Given the description of an element on the screen output the (x, y) to click on. 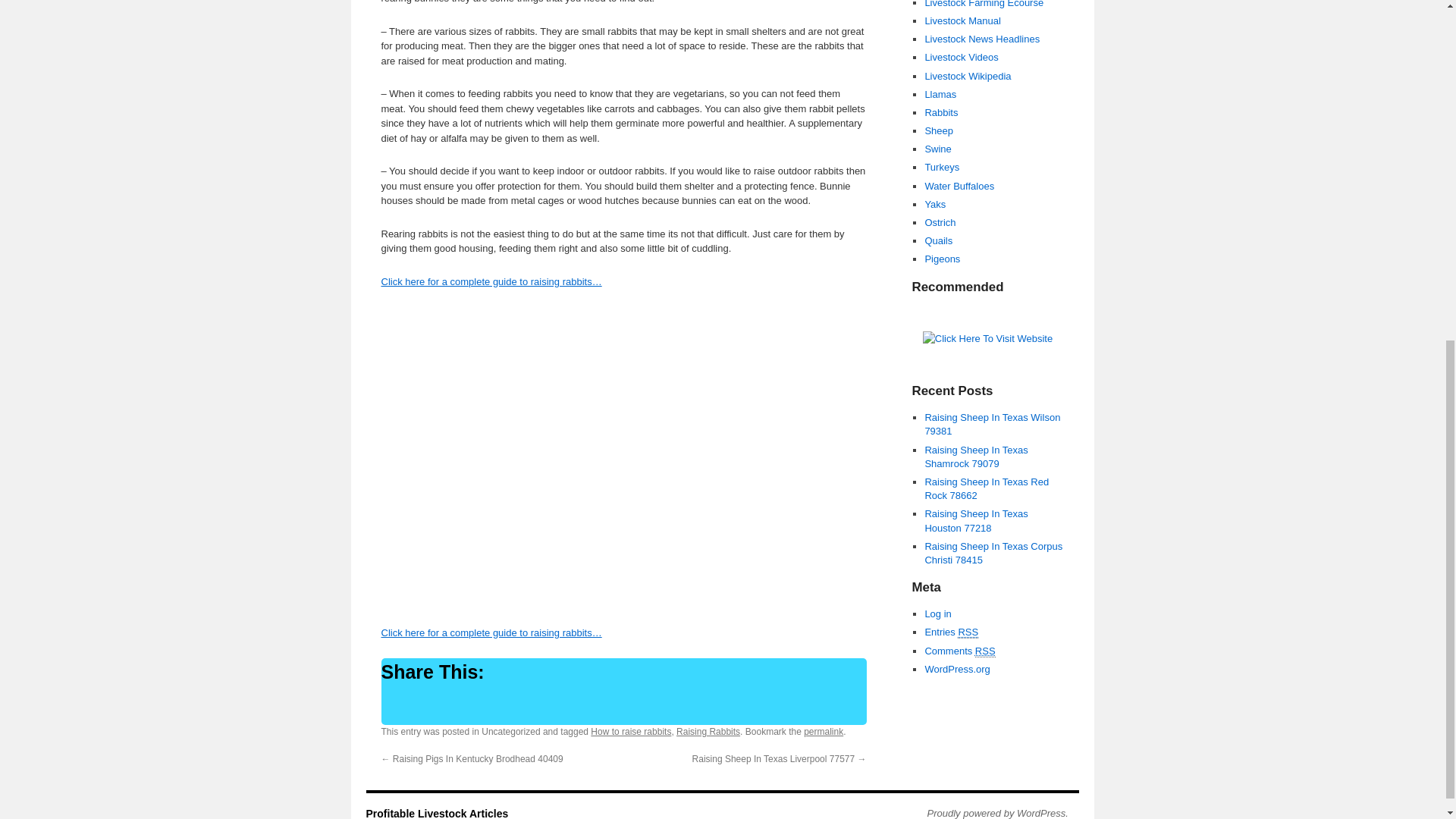
How to raise rabbits (631, 731)
permalink (823, 731)
Raising Rabbits (708, 731)
Really Simple Syndication (985, 651)
Click Here To Visit Website (987, 338)
Really Simple Syndication (968, 632)
